Given the description of an element on the screen output the (x, y) to click on. 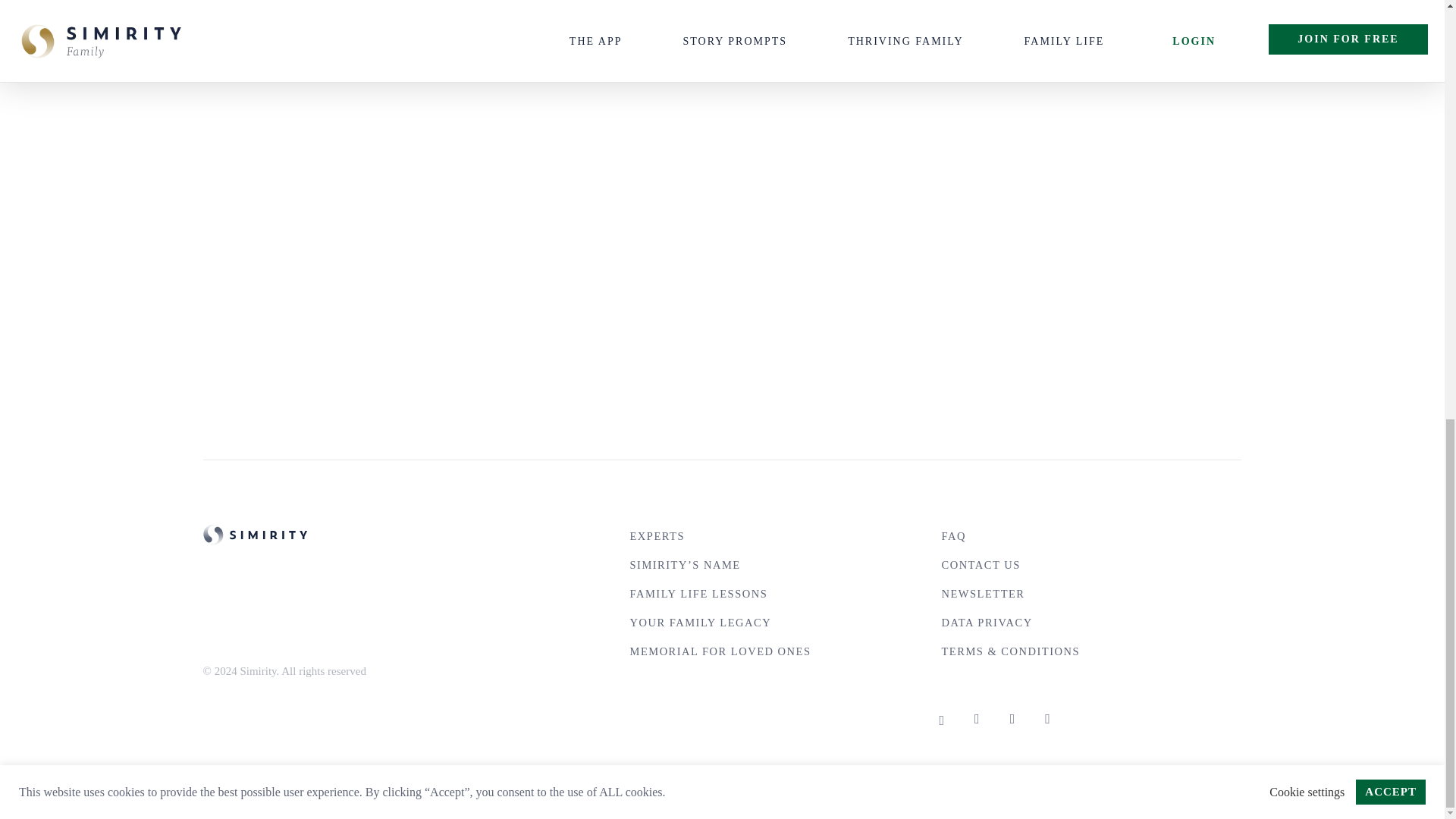
Form 0 (721, 210)
